Given the description of an element on the screen output the (x, y) to click on. 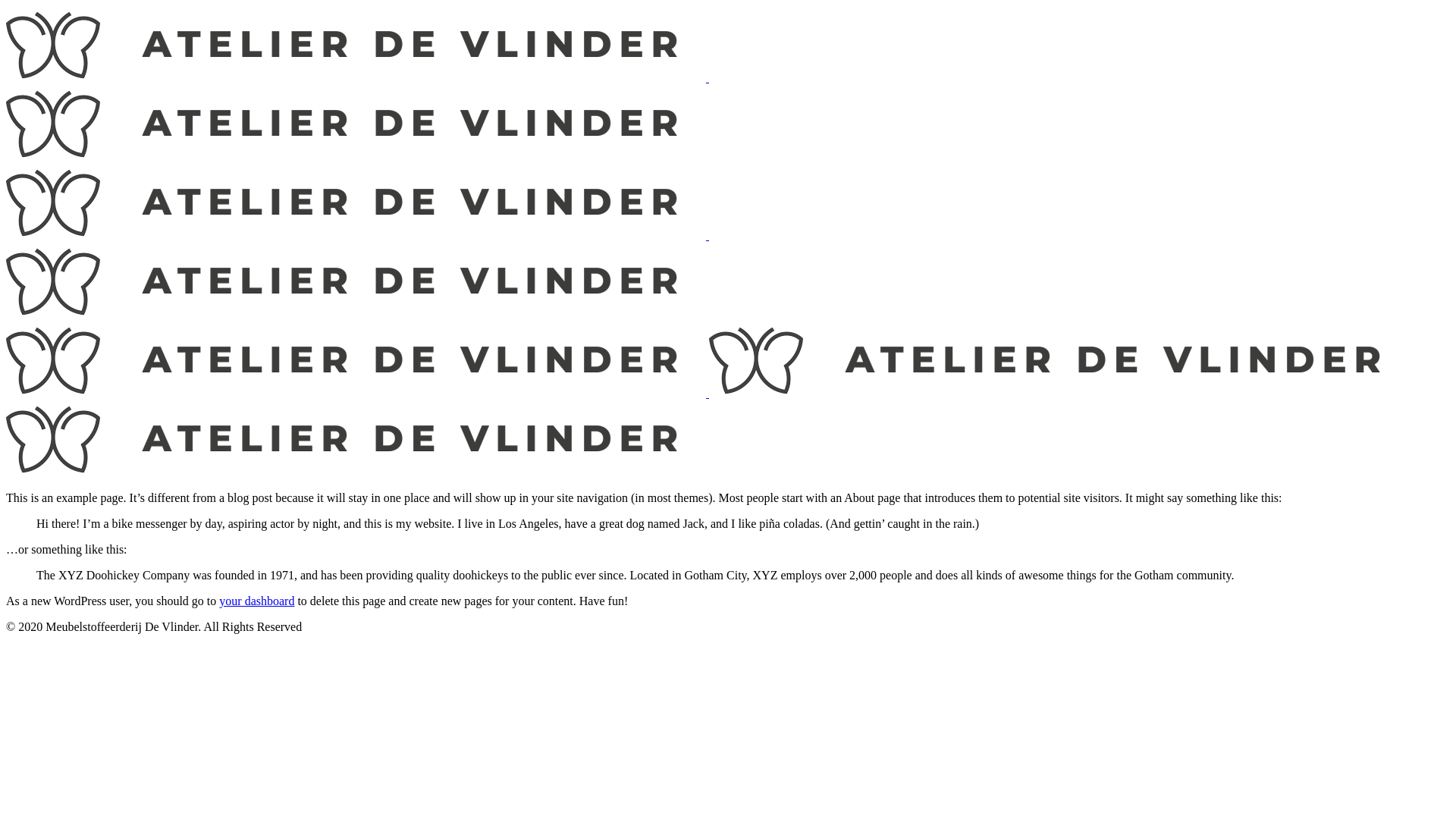
your dashboard Element type: text (256, 600)
